Given the description of an element on the screen output the (x, y) to click on. 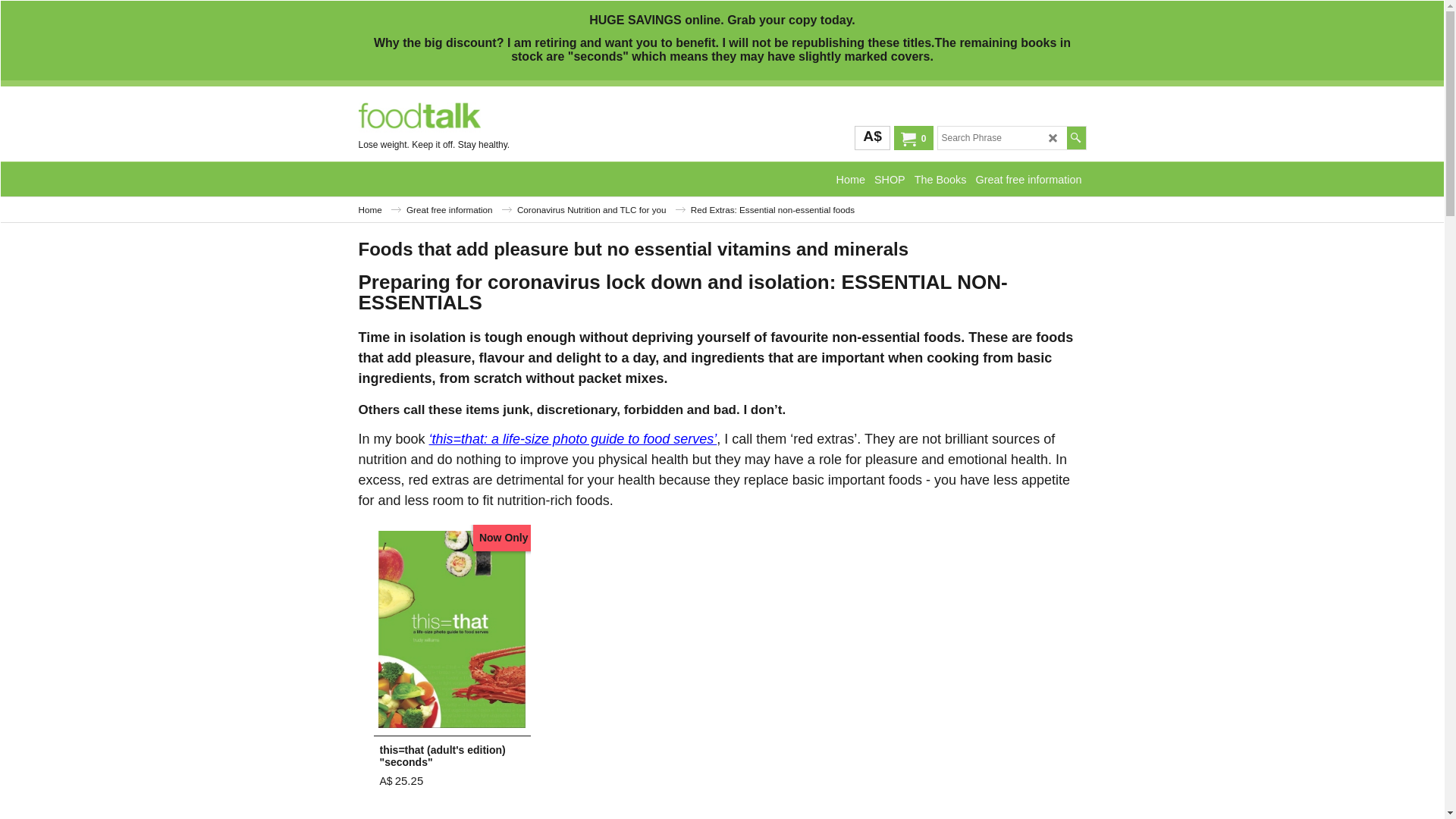
A$25.25 Element type: text (401, 780)
0 Element type: text (910, 138)
Coronavirus Nutrition and TLC for you Element type: text (601, 209)
Great free information Element type: text (1028, 179)
A$ Element type: text (872, 137)
LD_CANCEL Element type: hover (1052, 137)
Home Element type: text (378, 209)
SHOP Element type: text (889, 179)
Home Element type: text (850, 179)
Now Only
this=that (adult's edition) "seconds" Element type: text (451, 650)
The Books Element type: text (940, 179)
the best portion control serve size book Element type: hover (452, 629)
foodtalk logo image Element type: hover (418, 116)
foodtalk logo image Element type: hover (471, 116)
Great free information Element type: text (458, 209)
Find Element type: hover (1075, 137)
